Given the description of an element on the screen output the (x, y) to click on. 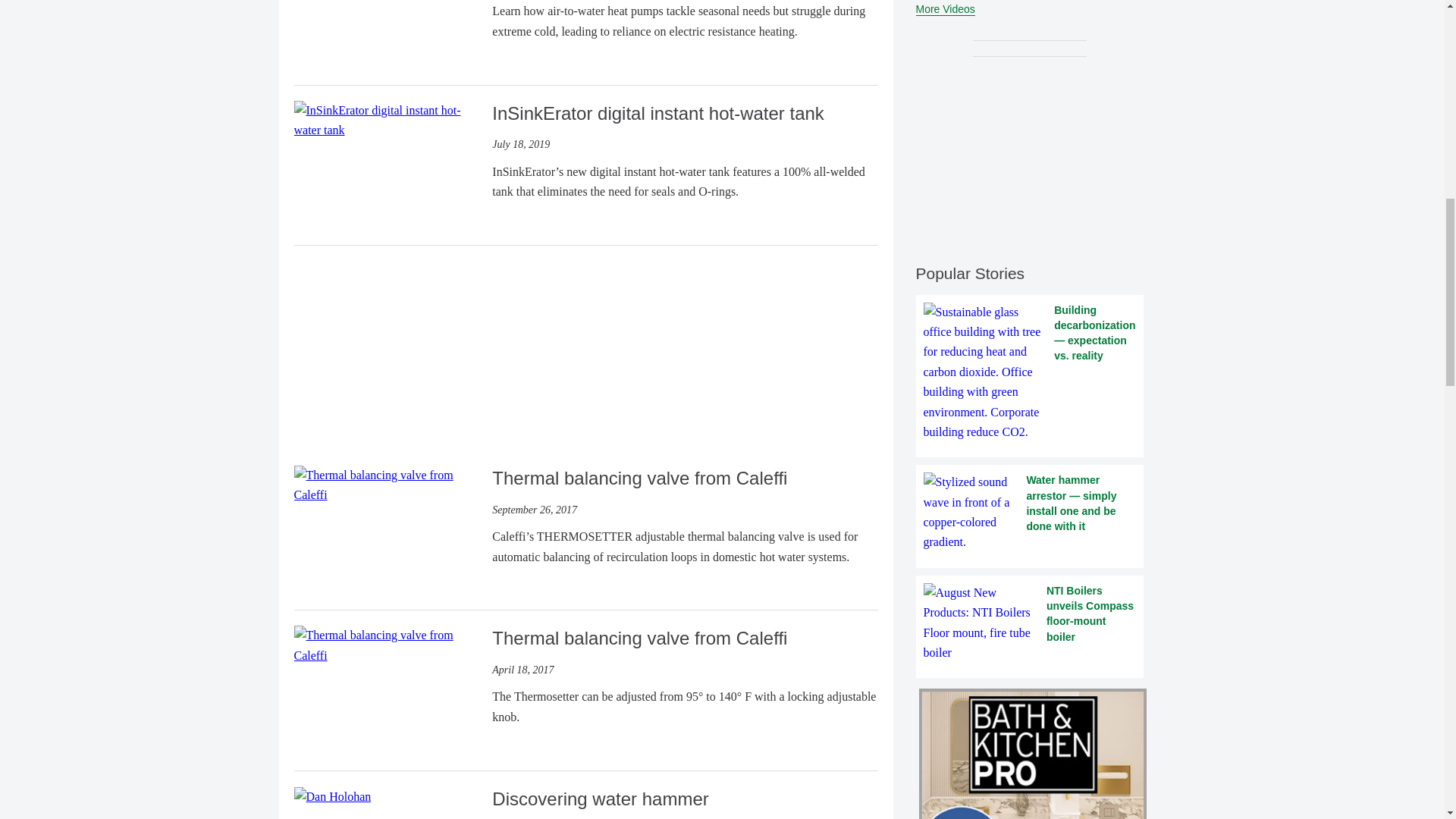
InSinkErator digital instant hot-water tank (387, 119)
Thermal balancing valve from Caleffi (387, 486)
Thermal balancing valve from Caleffi (387, 644)
Dan Holohan (332, 796)
Discovering water hammer (332, 795)
Thermal balancing valve from Caleffi (387, 483)
InSinkErator digital instant hot-water tank (387, 120)
Thermal balancing valve from Caleffi (387, 645)
